Given the description of an element on the screen output the (x, y) to click on. 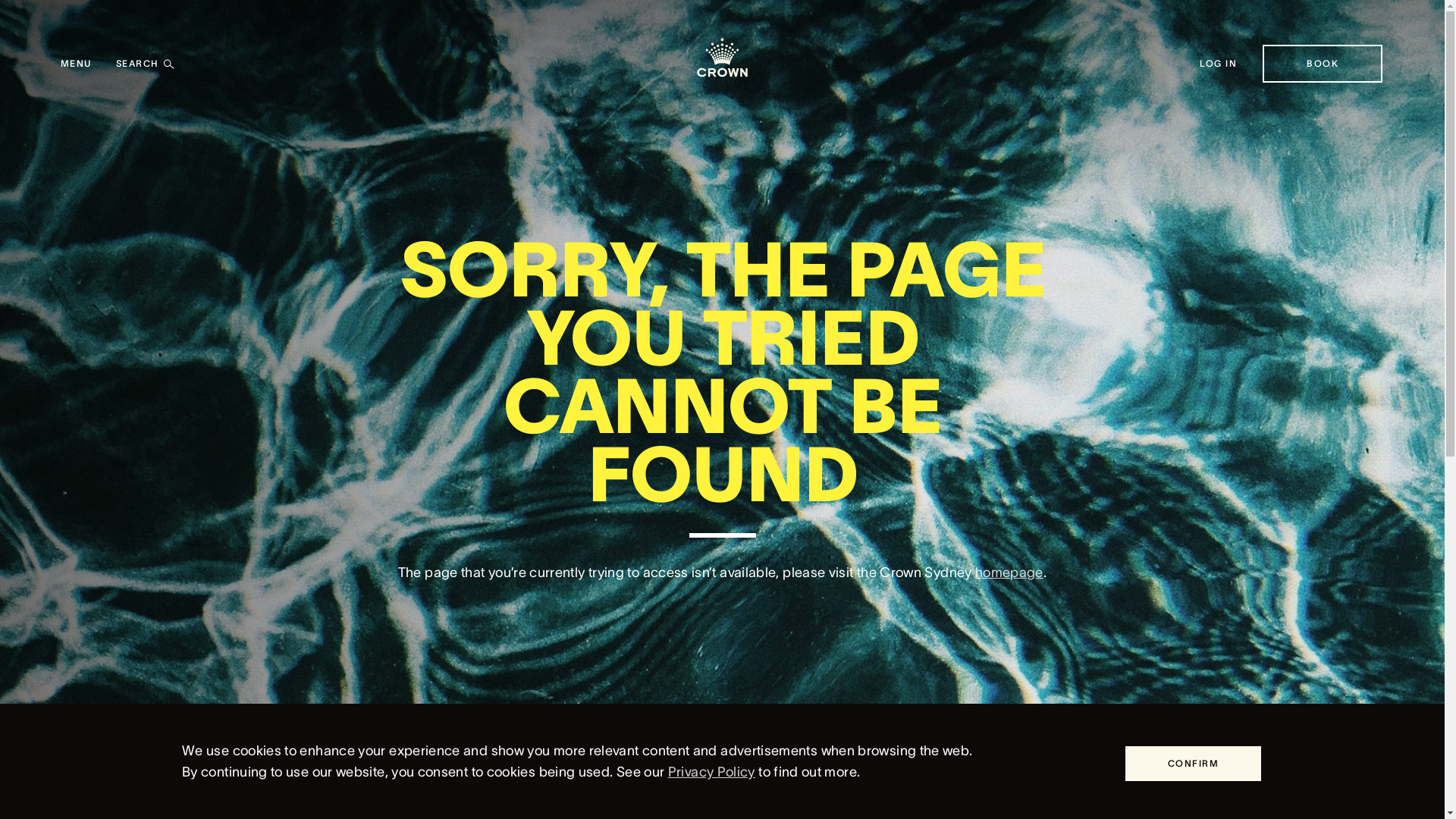
MENU Element type: text (75, 63)
Privacy Policy Element type: text (711, 771)
BOOK Element type: text (1322, 63)
CONFIRM Element type: text (1193, 763)
LOG IN Element type: text (1218, 63)
homepage Element type: text (1009, 572)
SEARCH Element type: text (145, 63)
